Given the description of an element on the screen output the (x, y) to click on. 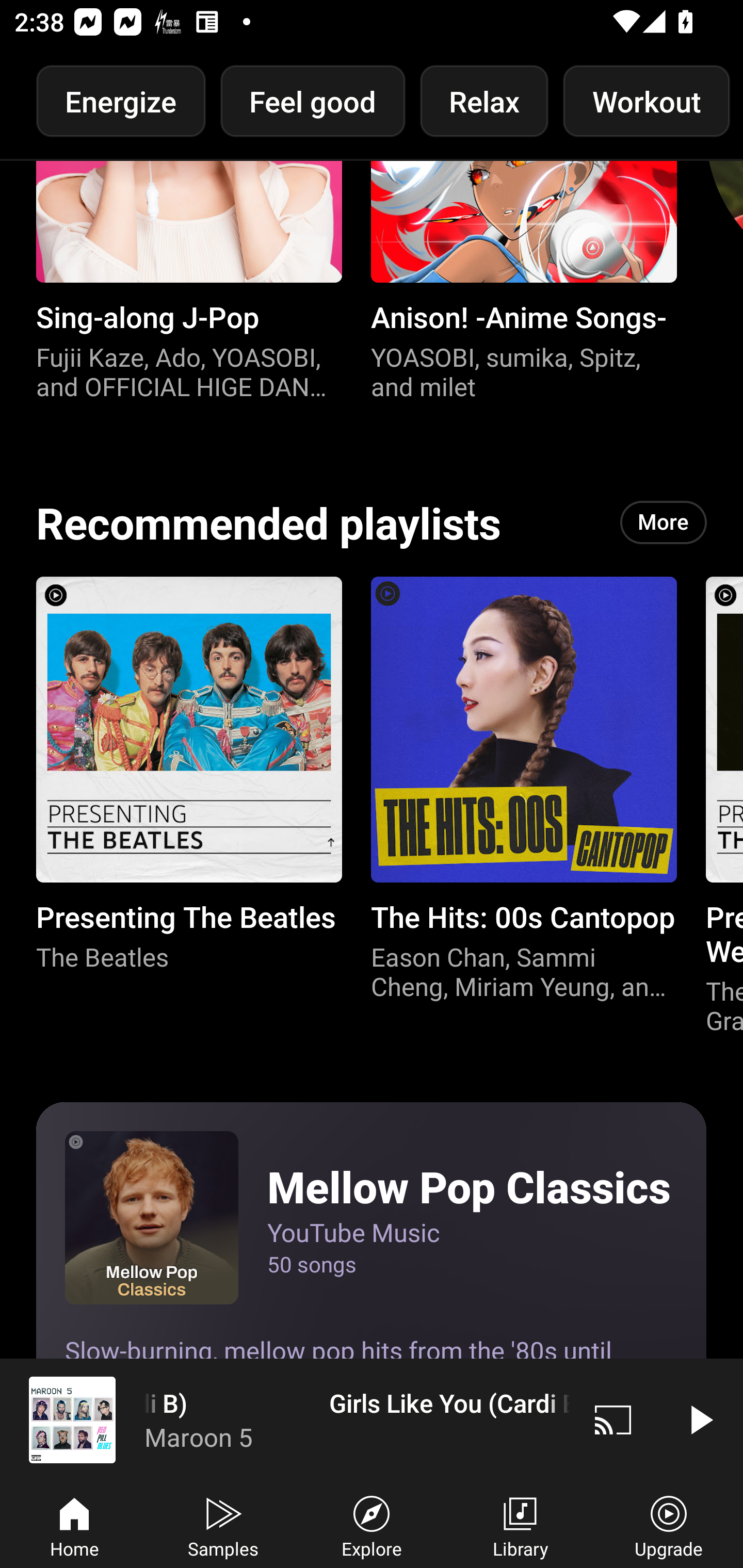
Cast. Disconnected (612, 1419)
Play video (699, 1419)
Home (74, 1524)
Samples (222, 1524)
Explore (371, 1524)
Library (519, 1524)
Upgrade (668, 1524)
